Given the description of an element on the screen output the (x, y) to click on. 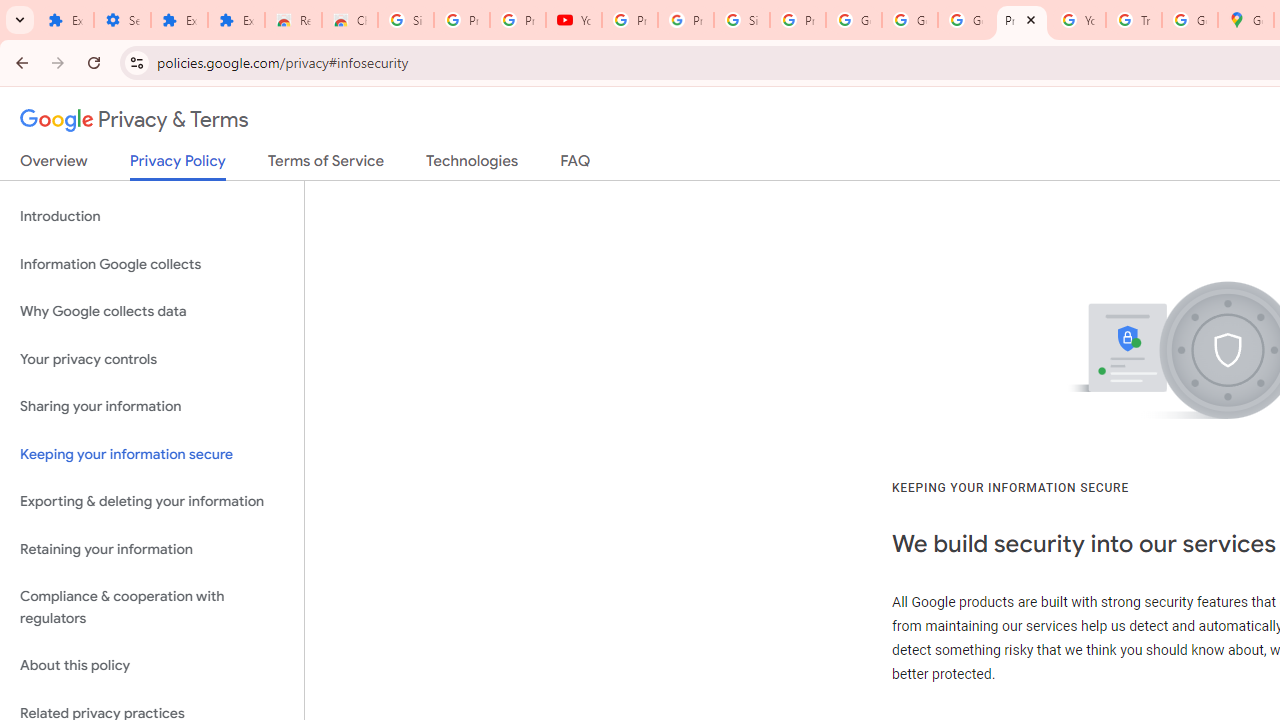
Exporting & deleting your information (152, 502)
YouTube (1077, 20)
About this policy (152, 666)
Sign in - Google Accounts (742, 20)
Keeping your information secure (152, 453)
Compliance & cooperation with regulators (152, 607)
Reviews: Helix Fruit Jump Arcade Game (293, 20)
